Given the description of an element on the screen output the (x, y) to click on. 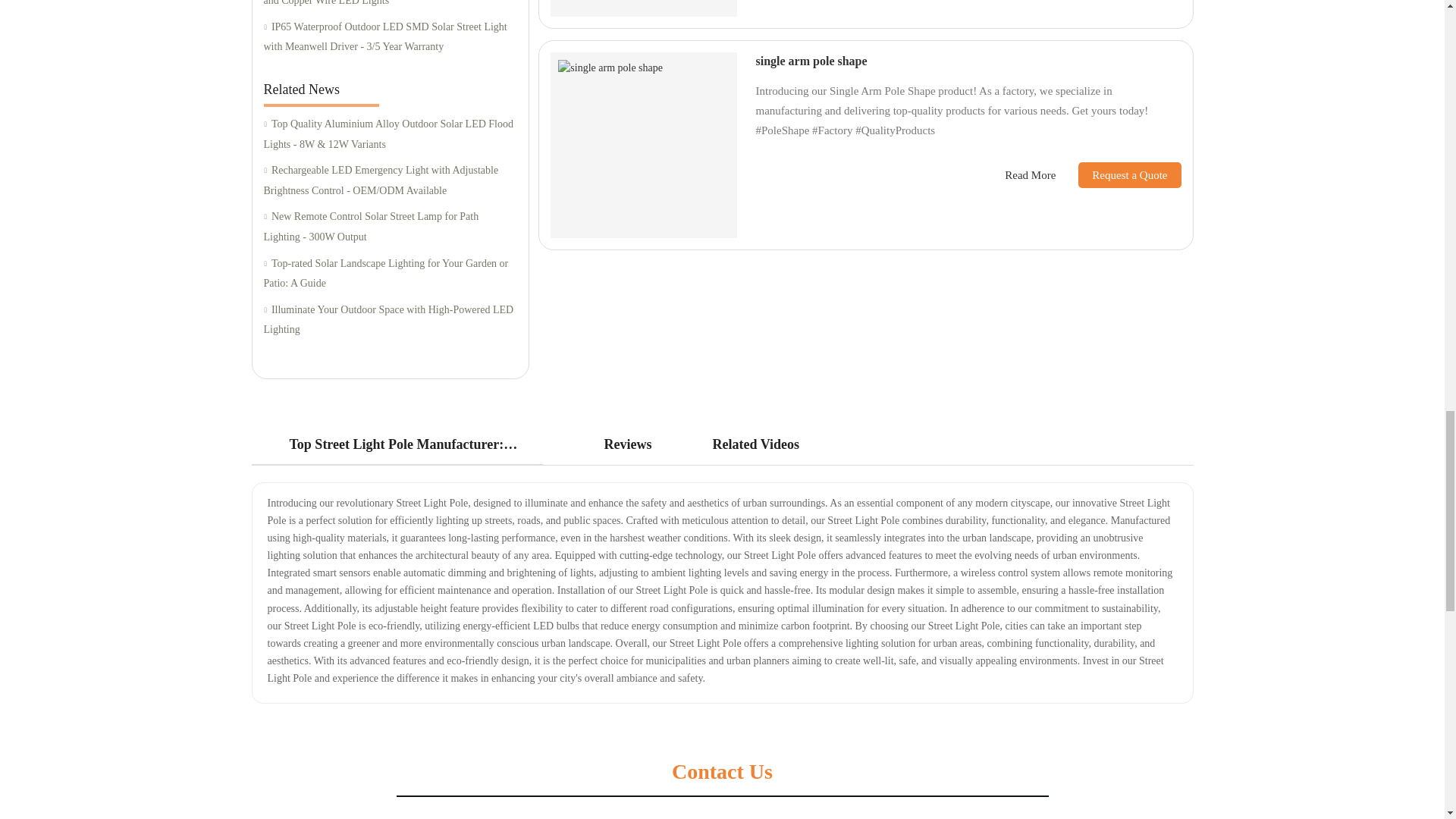
Illuminate Your Outdoor Space with High-Powered LED Lighting (389, 320)
